Given the description of an element on the screen output the (x, y) to click on. 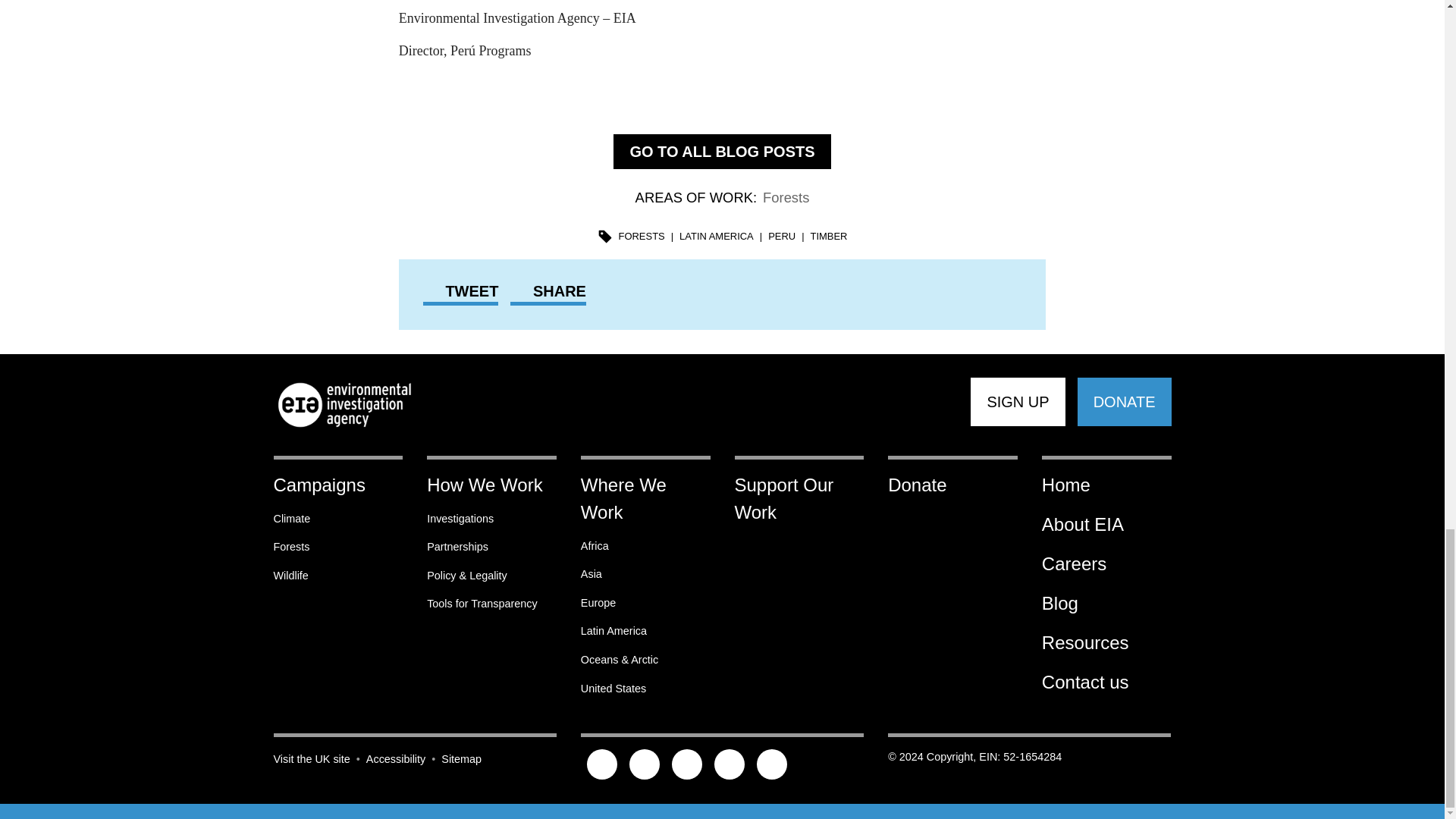
Twitter (601, 765)
Youtube (729, 765)
Linkedin (771, 765)
Facebook (644, 765)
Instagram (686, 765)
